Given the description of an element on the screen output the (x, y) to click on. 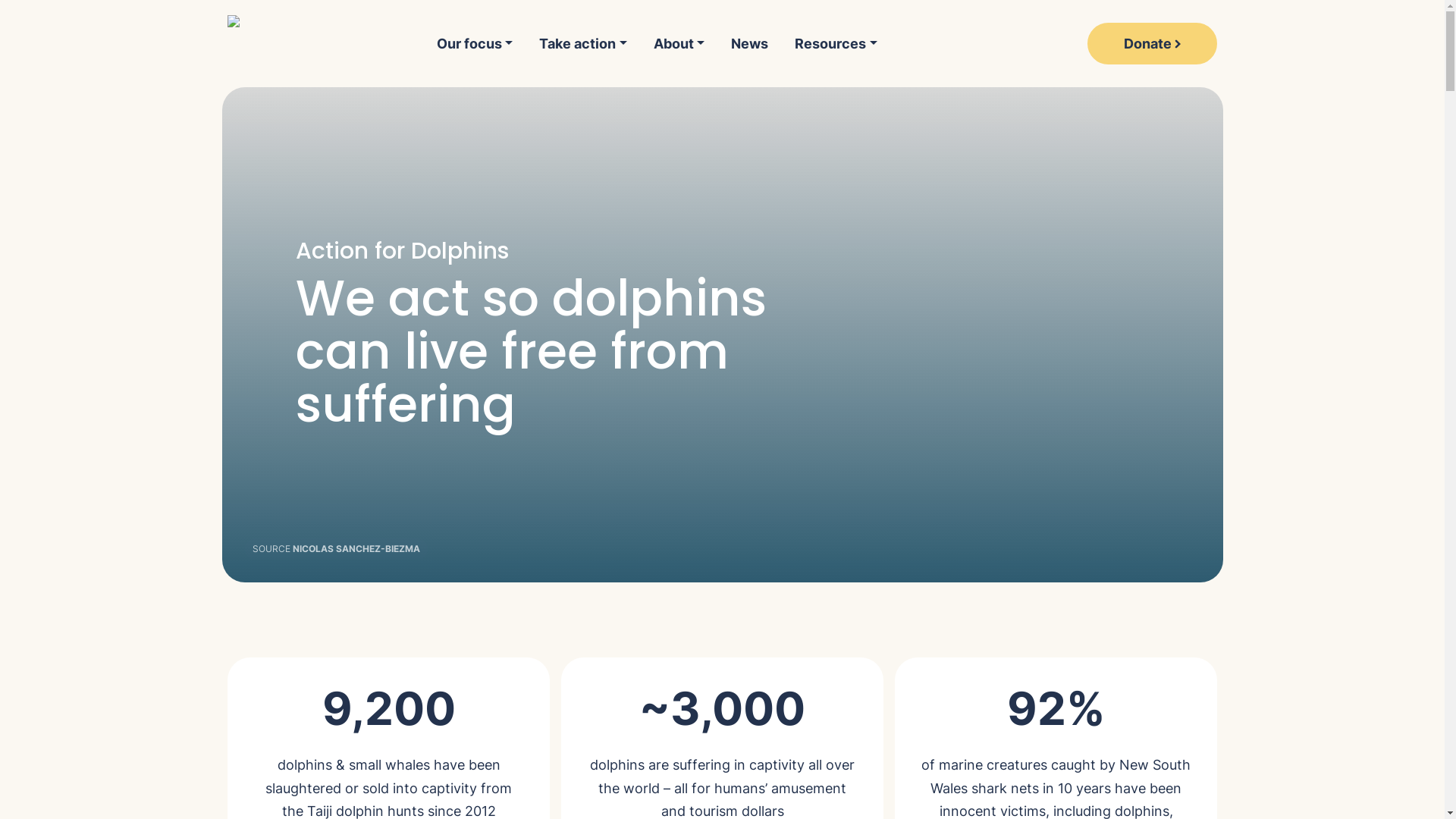
Donate Element type: text (1152, 43)
About Element type: text (679, 43)
Take action Element type: text (583, 43)
News Element type: text (749, 43)
Resources Element type: text (836, 43)
Our focus Element type: text (481, 43)
